Given the description of an element on the screen output the (x, y) to click on. 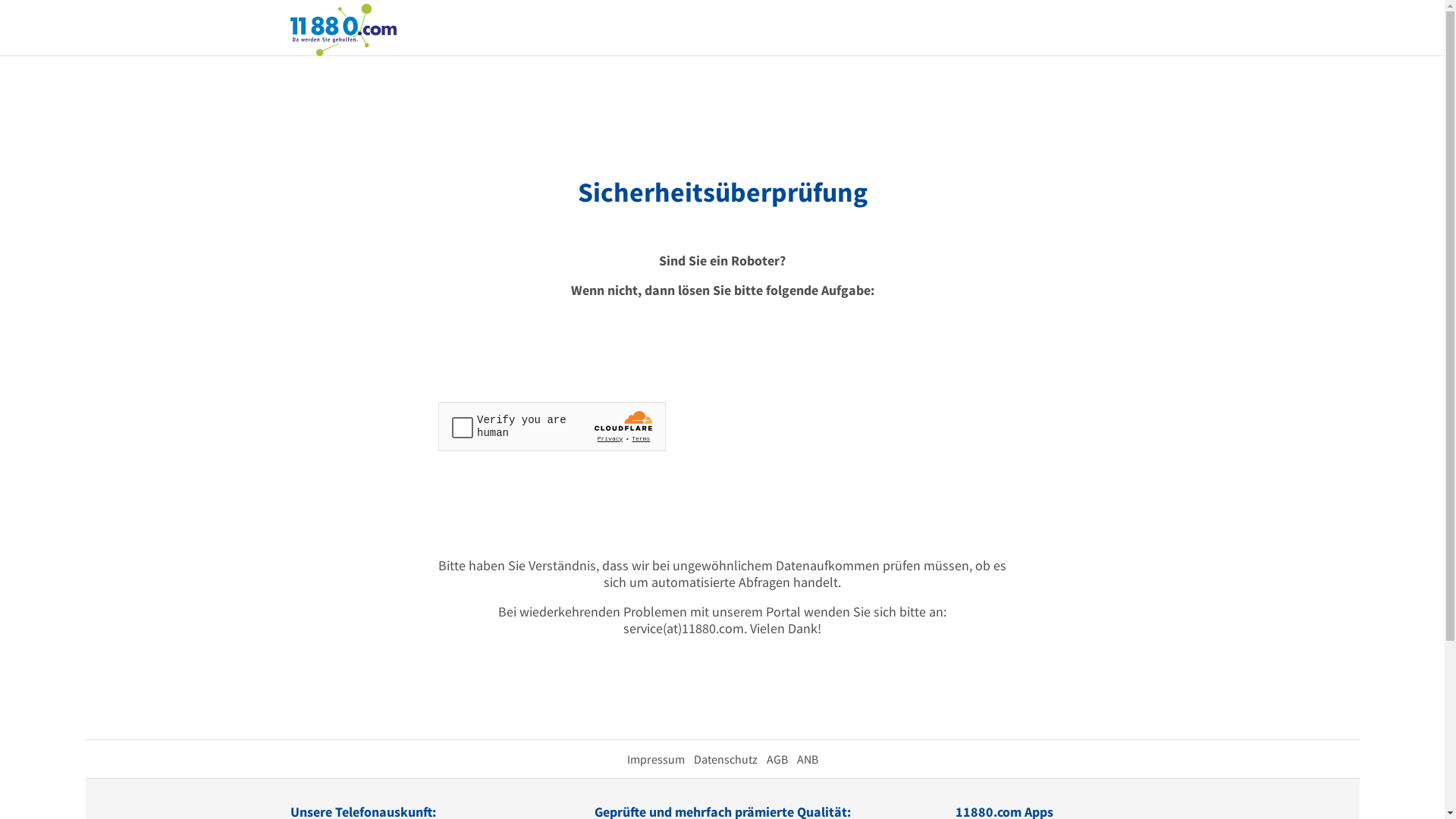
ANB Element type: text (806, 758)
Widget containing a Cloudflare security challenge Element type: hover (551, 426)
Impressum Element type: text (655, 758)
11880.com Element type: hover (342, 28)
Datenschutz Element type: text (724, 758)
AGB Element type: text (776, 758)
